Given the description of an element on the screen output the (x, y) to click on. 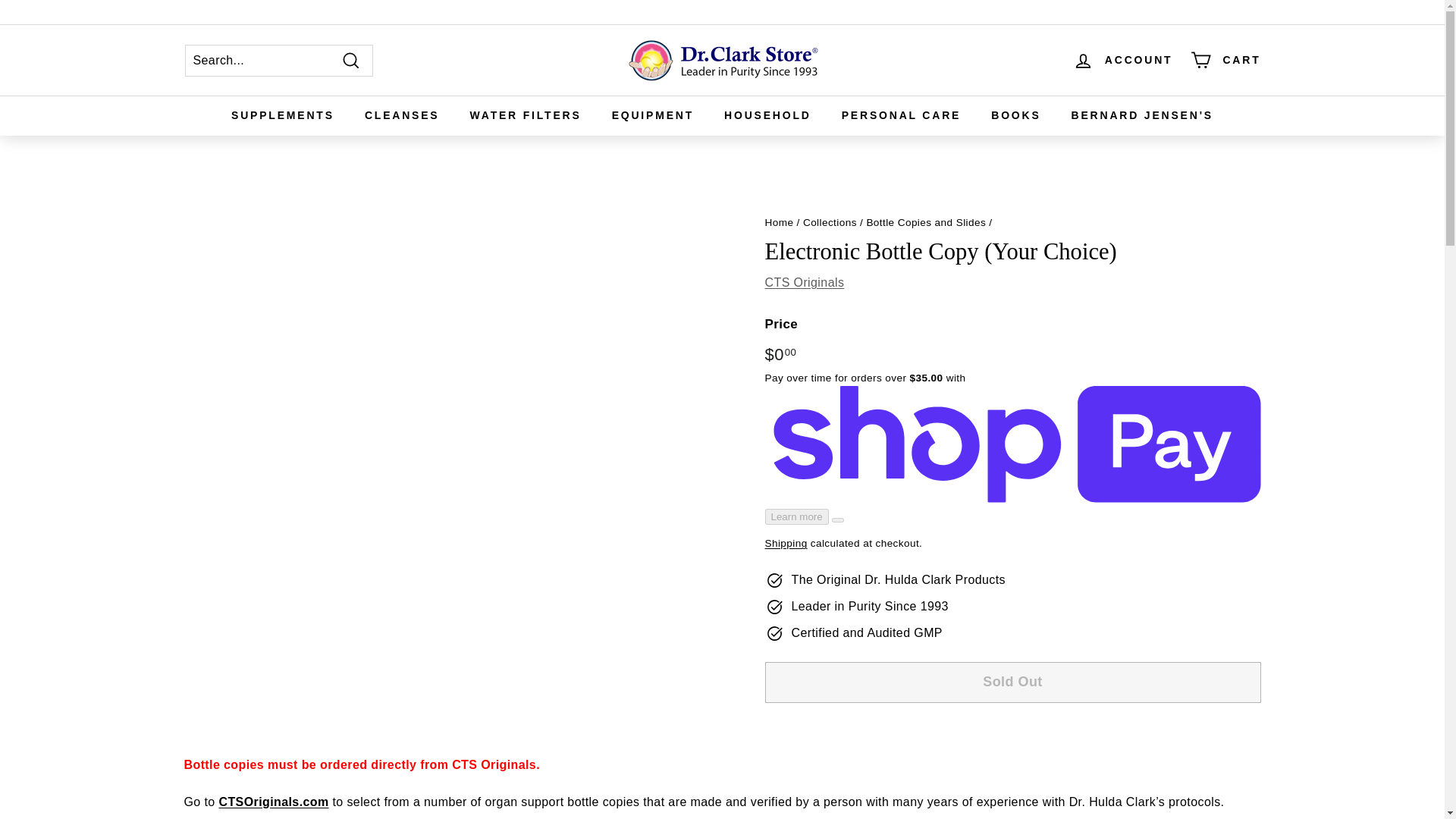
SUPPLEMENTS (282, 115)
CLEANSES (401, 115)
CTS Originals (804, 282)
WATER FILTERS (525, 115)
Back to the frontpage (778, 222)
EQUIPMENT (652, 115)
ACCOUNT (1123, 59)
HOUSEHOLD (768, 115)
PERSONAL CARE (901, 115)
